Given the description of an element on the screen output the (x, y) to click on. 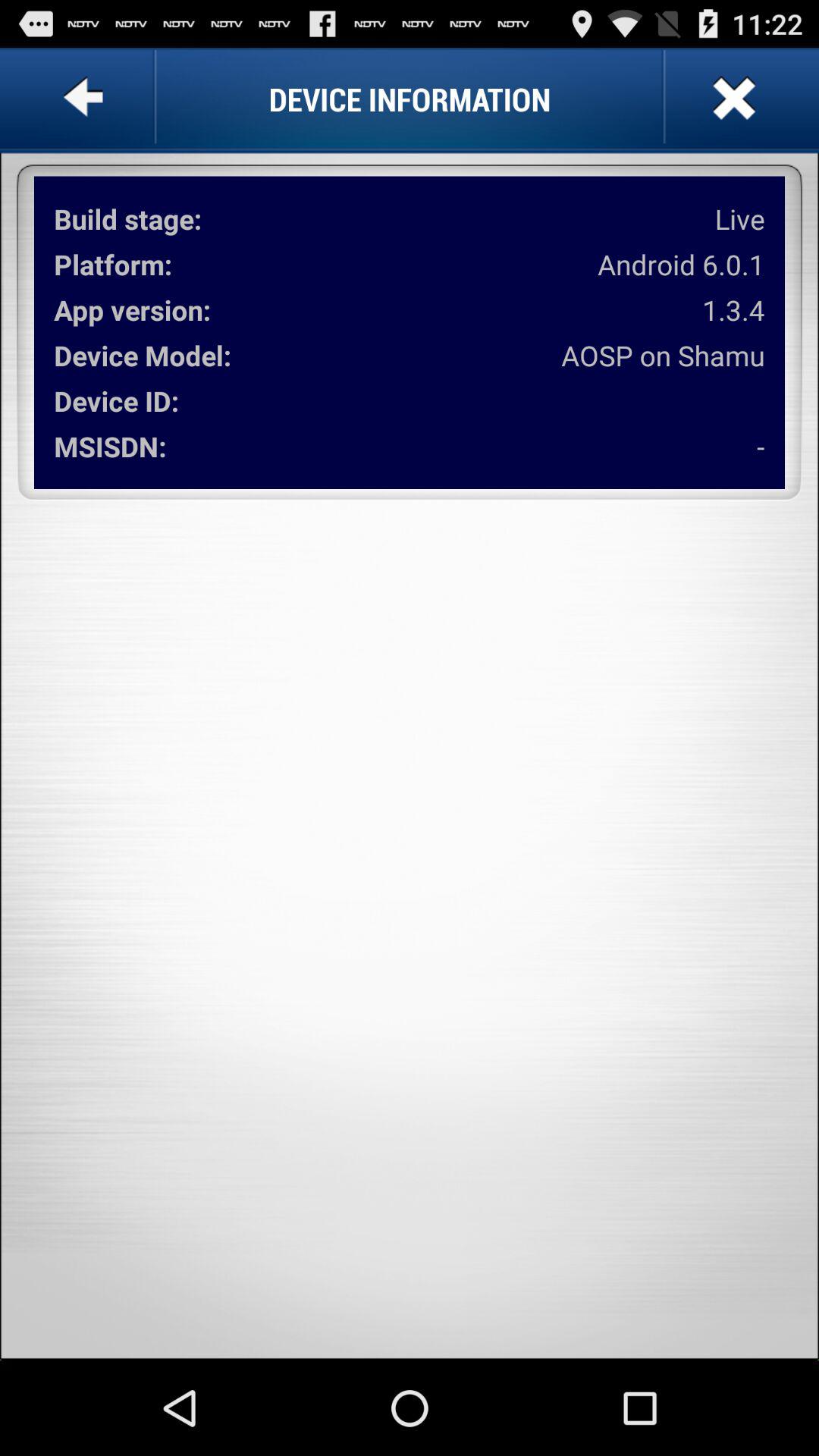
tap item to the left of device information app (86, 99)
